Given the description of an element on the screen output the (x, y) to click on. 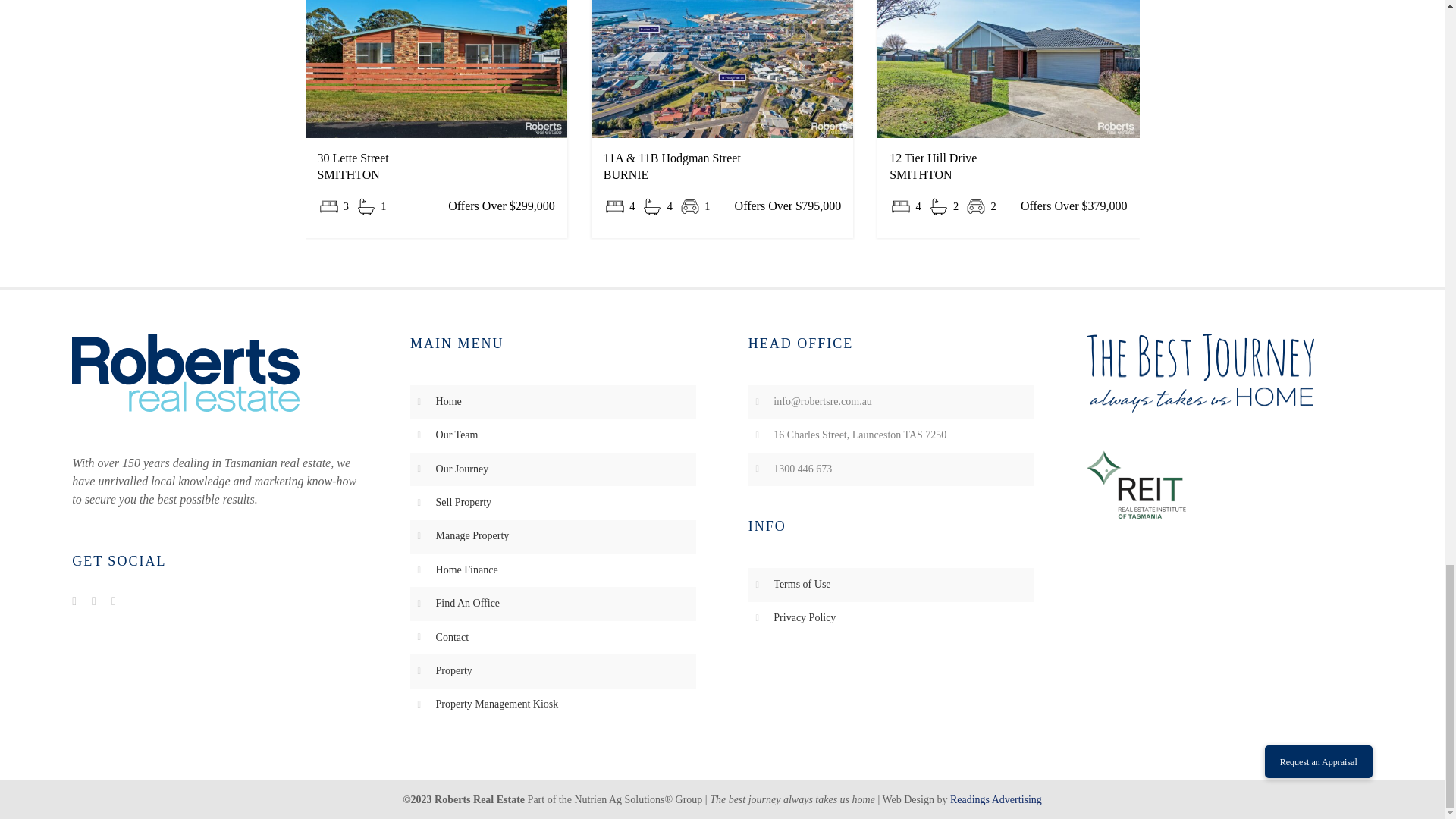
Property Management Kiosk (497, 704)
Asset 1 (185, 372)
The Best Journey Always Takes Us Home (1199, 372)
image001-4 (1135, 484)
